Given the description of an element on the screen output the (x, y) to click on. 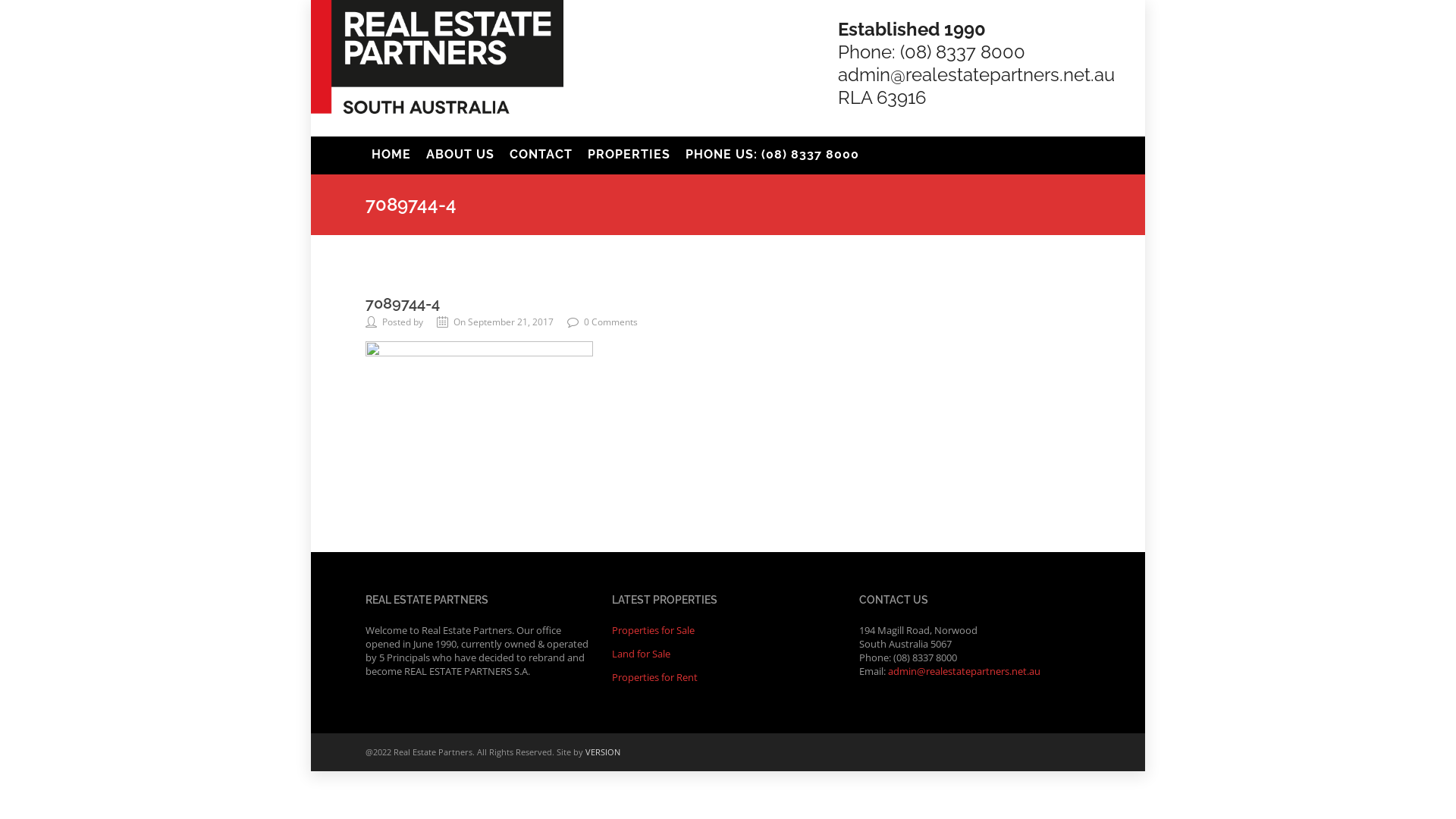
HOME Element type: text (391, 153)
Properties for Sale Element type: text (652, 630)
Land for Sale Element type: text (640, 653)
CONTACT Element type: text (540, 153)
VERSION Element type: text (602, 751)
admin@realestatepartners.net.au Element type: text (964, 670)
Properties for Rent Element type: text (654, 677)
PHONE US: (08) 8337 8000 Element type: text (772, 153)
ABOUT US Element type: text (460, 153)
PROPERTIES Element type: text (628, 153)
